Given the description of an element on the screen output the (x, y) to click on. 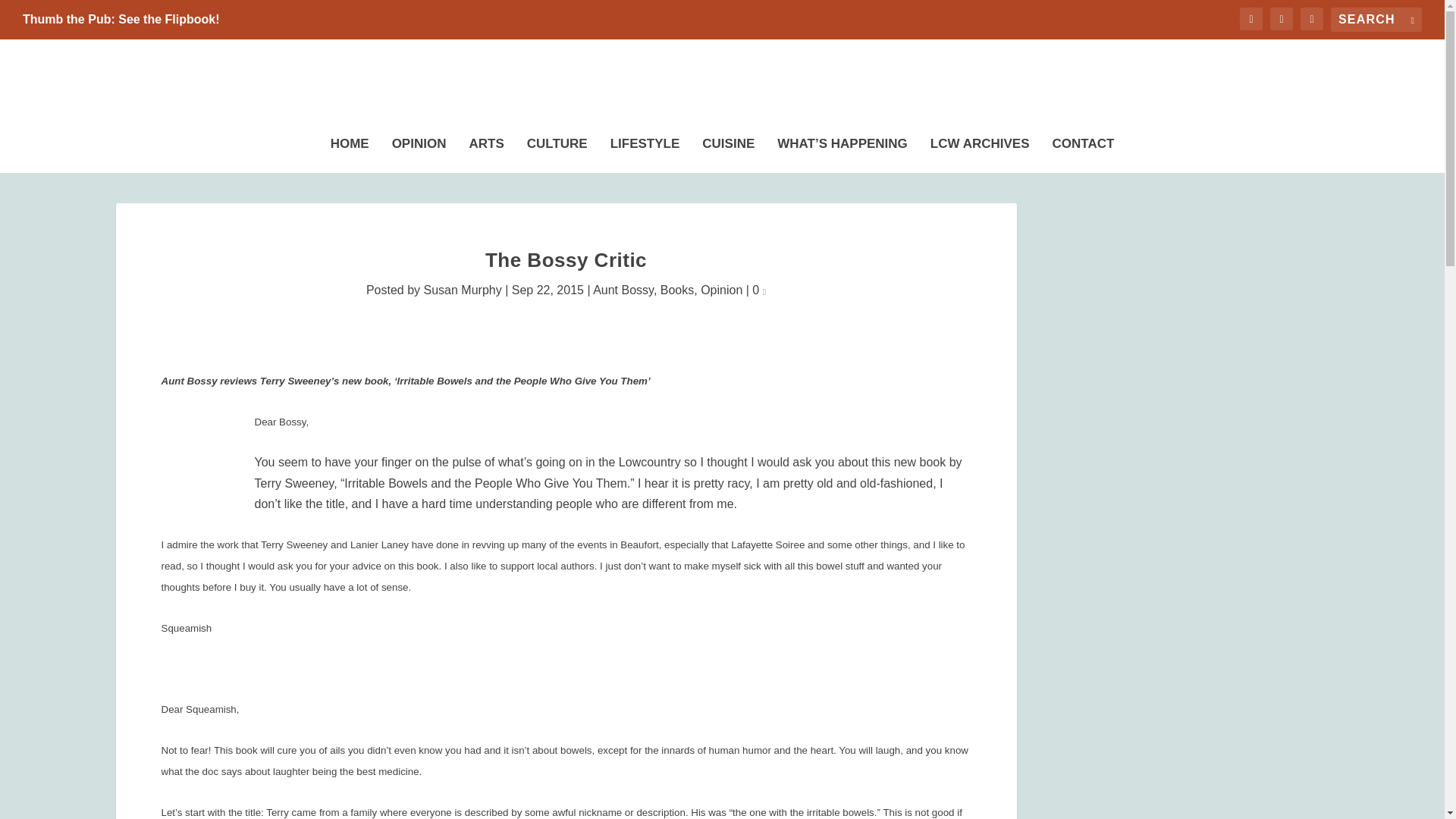
OPINION (418, 151)
Thumb the Pub: See the Flipbook! (121, 19)
CULTURE (557, 151)
Opinion (721, 289)
Posts by Susan Murphy (462, 289)
Susan Murphy (462, 289)
0 (758, 289)
Search for: (1376, 19)
Aunt Bossy (622, 289)
LIFESTYLE (644, 151)
